Given the description of an element on the screen output the (x, y) to click on. 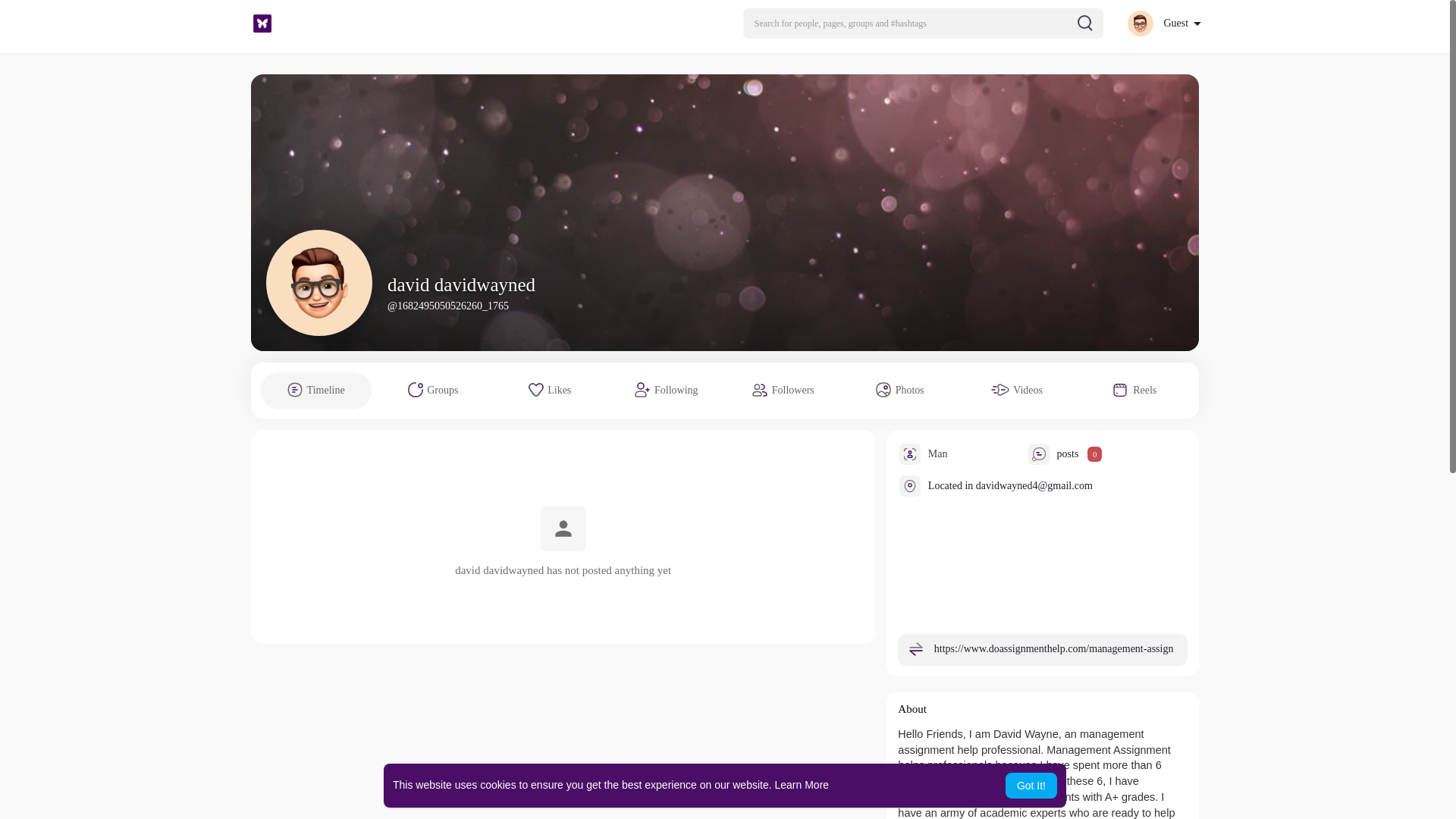
Got It! (1031, 785)
Videos (1015, 390)
Likes (550, 390)
david davidwayned (461, 284)
Guest (1163, 23)
Groups (432, 390)
Learn More (801, 784)
Reels (1133, 390)
Photos (899, 390)
Followers (783, 390)
Following (666, 390)
Timeline (315, 390)
